Given the description of an element on the screen output the (x, y) to click on. 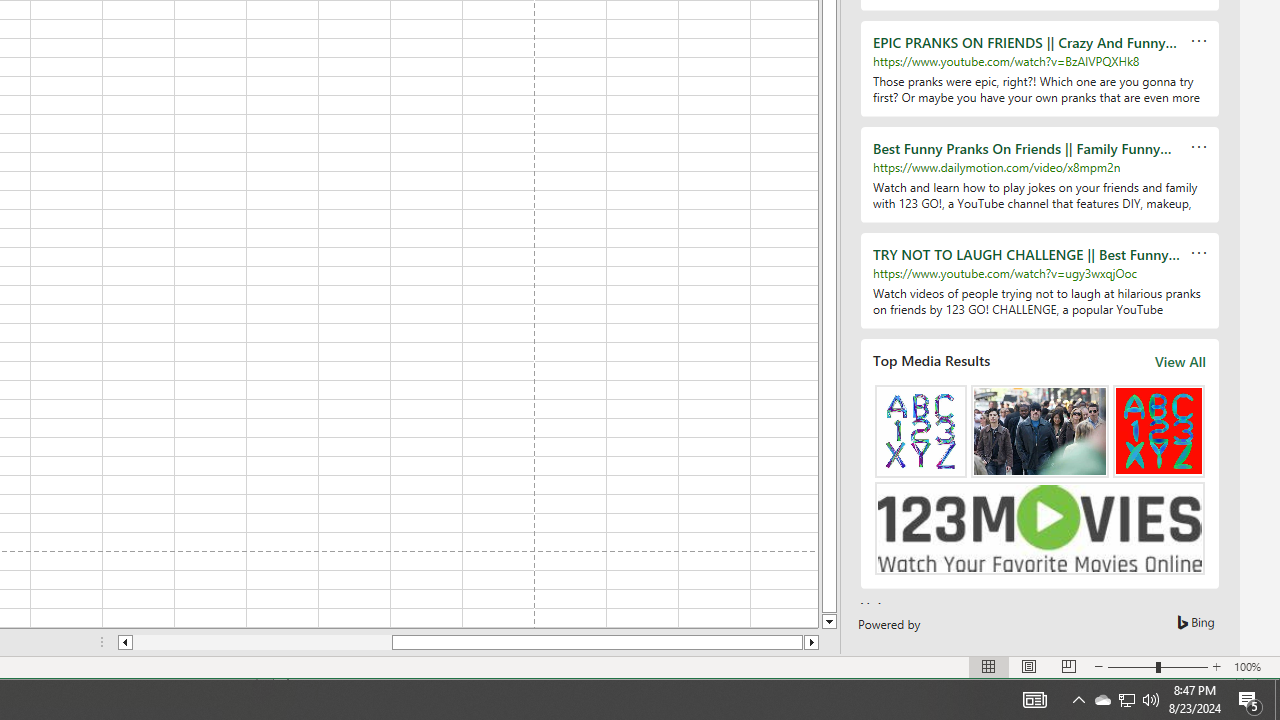
Show desktop (1277, 699)
Action Center, 5 new notifications (1250, 699)
Notification Chevron (1102, 699)
User Promoted Notification Area (1078, 699)
Page left (1126, 699)
AutomationID: 4105 (262, 642)
